Given the description of an element on the screen output the (x, y) to click on. 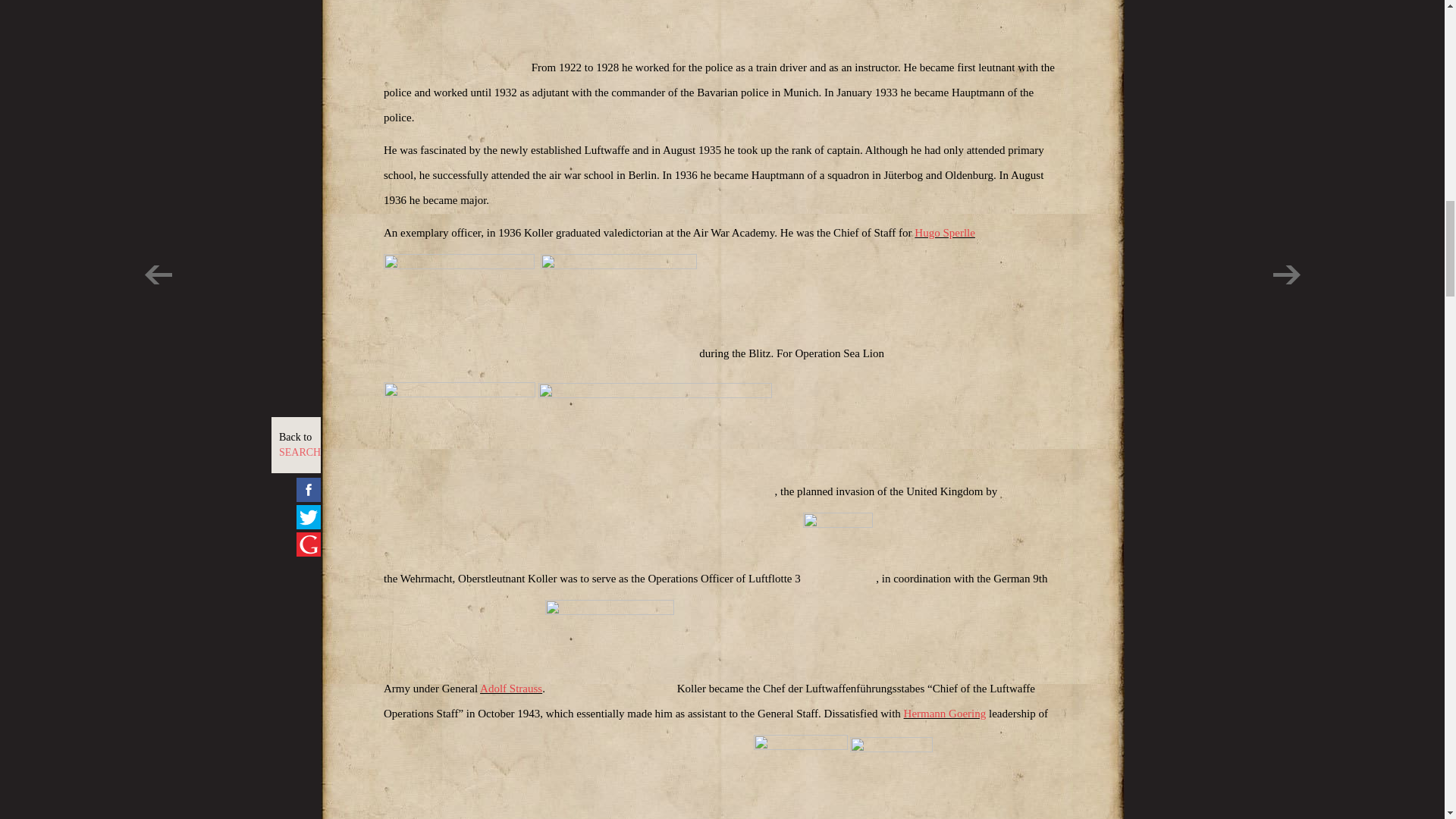
Hermann Goering (945, 713)
Hugo Sperlle (944, 232)
Adolf Strauss (510, 688)
